Given the description of an element on the screen output the (x, y) to click on. 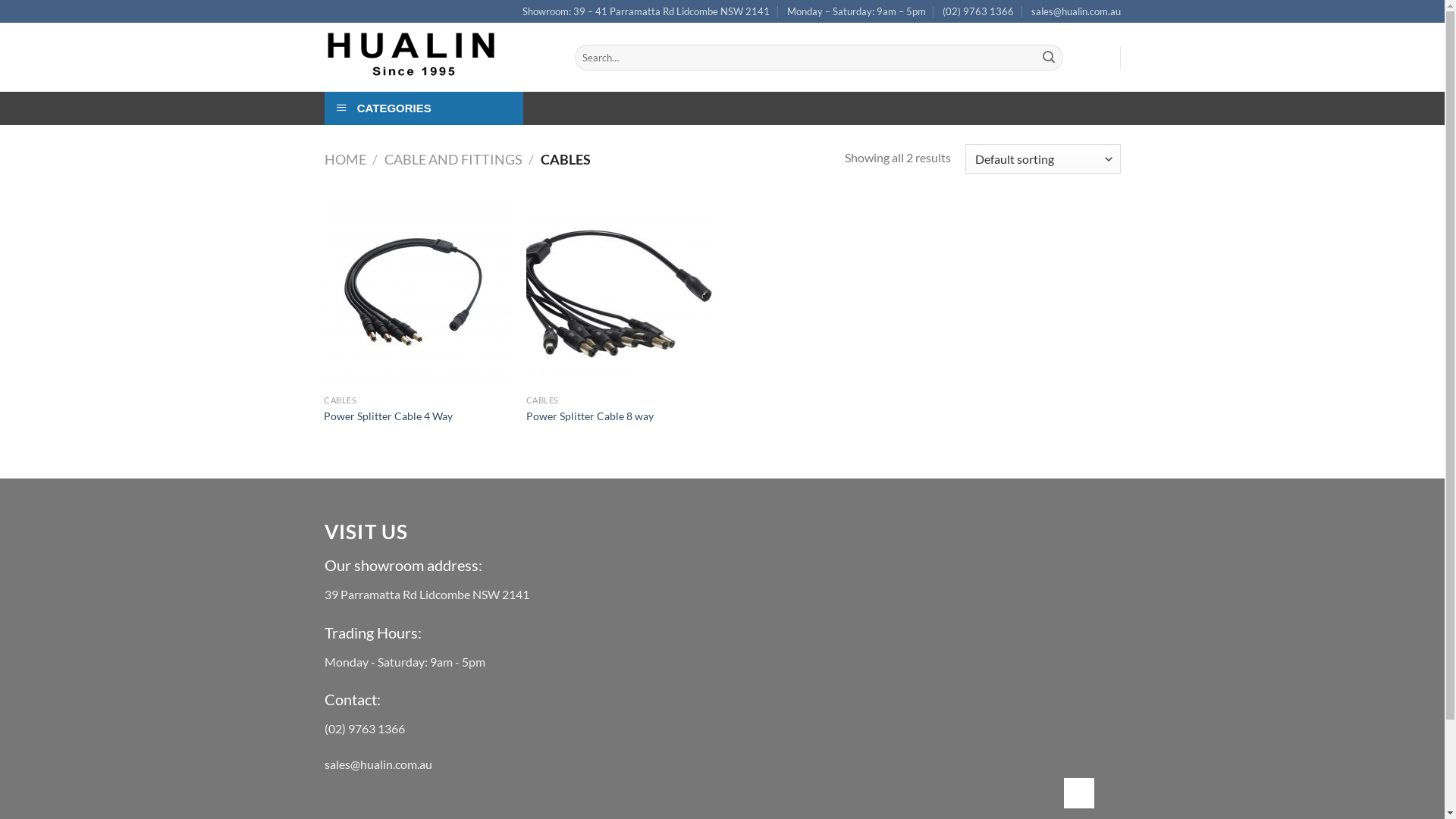
HOME Element type: text (345, 158)
(02) 9763 1366 Element type: text (977, 11)
Skip to content Element type: text (0, 0)
Search Element type: text (1048, 57)
sales@hualin.com.au Element type: text (1075, 11)
Power Splitter Cable 4 Way Element type: text (387, 416)
Power Splitter Cable 8 way Element type: text (589, 416)
CABLE AND FITTINGS Element type: text (453, 158)
